Given the description of an element on the screen output the (x, y) to click on. 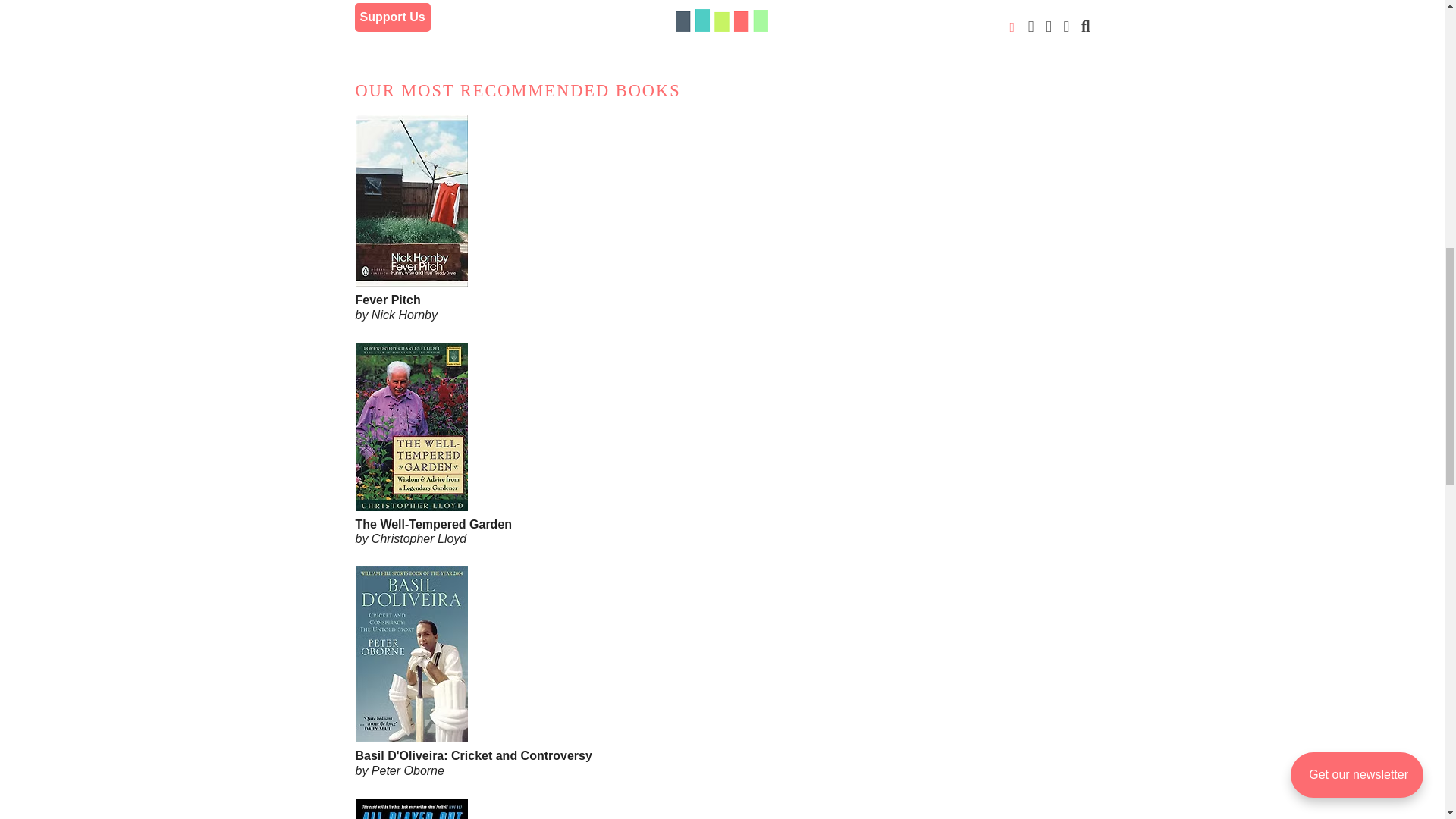
A Basilisk Chance (647, 27)
Fever Pitch (722, 259)
Basil D'Oliveira: Cricket and Controversy (722, 714)
The Well-Tempered Garden (722, 484)
